Given the description of an element on the screen output the (x, y) to click on. 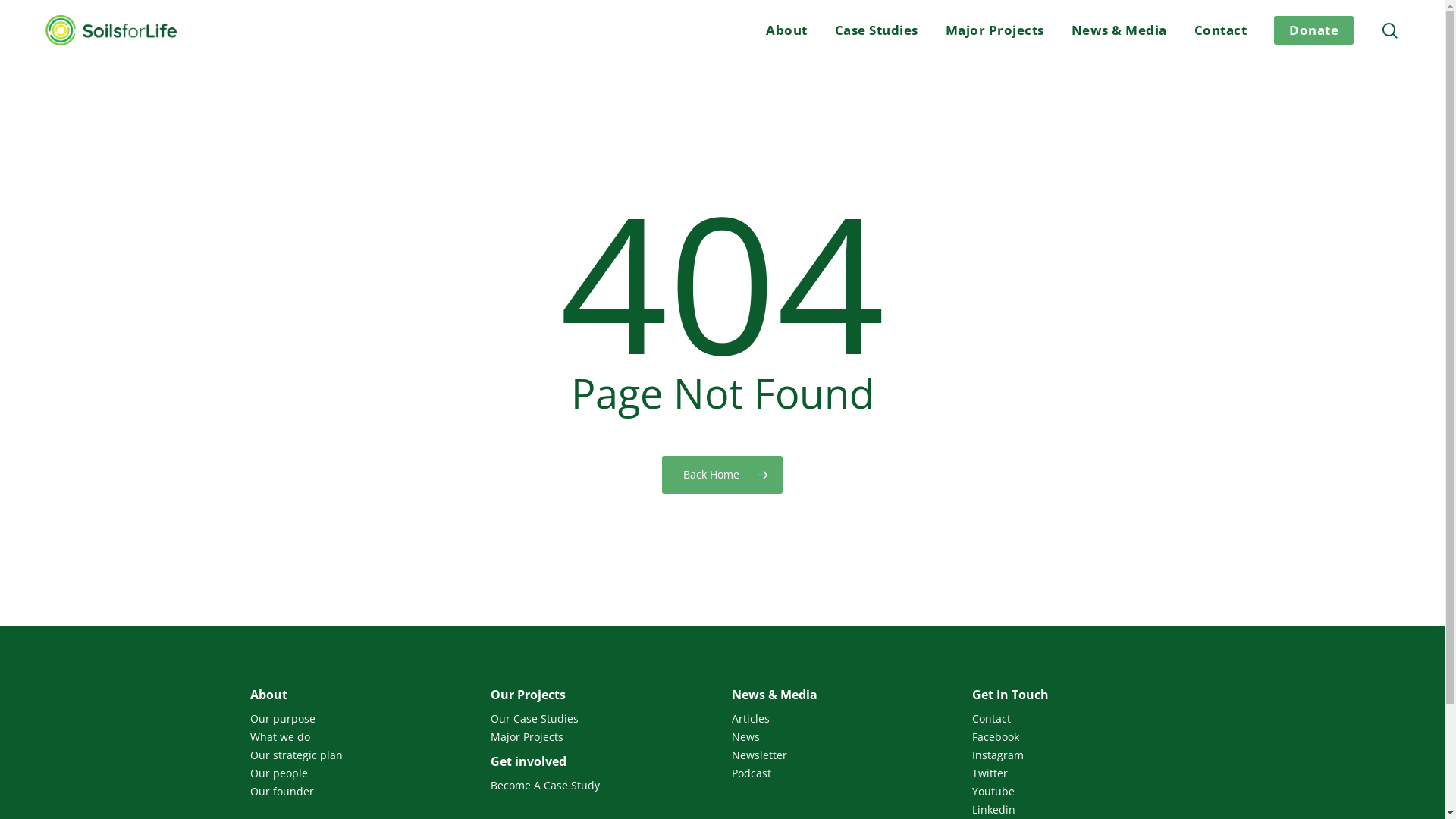
Newsletter Element type: text (842, 755)
Our people Element type: text (361, 773)
Major Projects Element type: text (601, 737)
Our Case Studies Element type: text (601, 718)
Major Projects Element type: text (994, 30)
News Element type: text (842, 737)
Our strategic plan Element type: text (361, 755)
Back Home Element type: text (722, 473)
Twitter Element type: text (1083, 773)
Youtube Element type: text (1083, 791)
What we do Element type: text (361, 737)
Our purpose Element type: text (361, 718)
Case Studies Element type: text (875, 30)
Donate Element type: text (1313, 30)
Podcast Element type: text (842, 773)
Instagram Element type: text (1083, 755)
Facebook Element type: text (1083, 737)
About Element type: text (786, 30)
Become A Case Study Element type: text (601, 785)
Our founder Element type: text (361, 791)
Contact Element type: text (1219, 30)
search Element type: text (1389, 30)
Linkedin Element type: text (1083, 809)
Articles Element type: text (842, 718)
News & Media Element type: text (1118, 30)
Contact Element type: text (1083, 718)
